Given the description of an element on the screen output the (x, y) to click on. 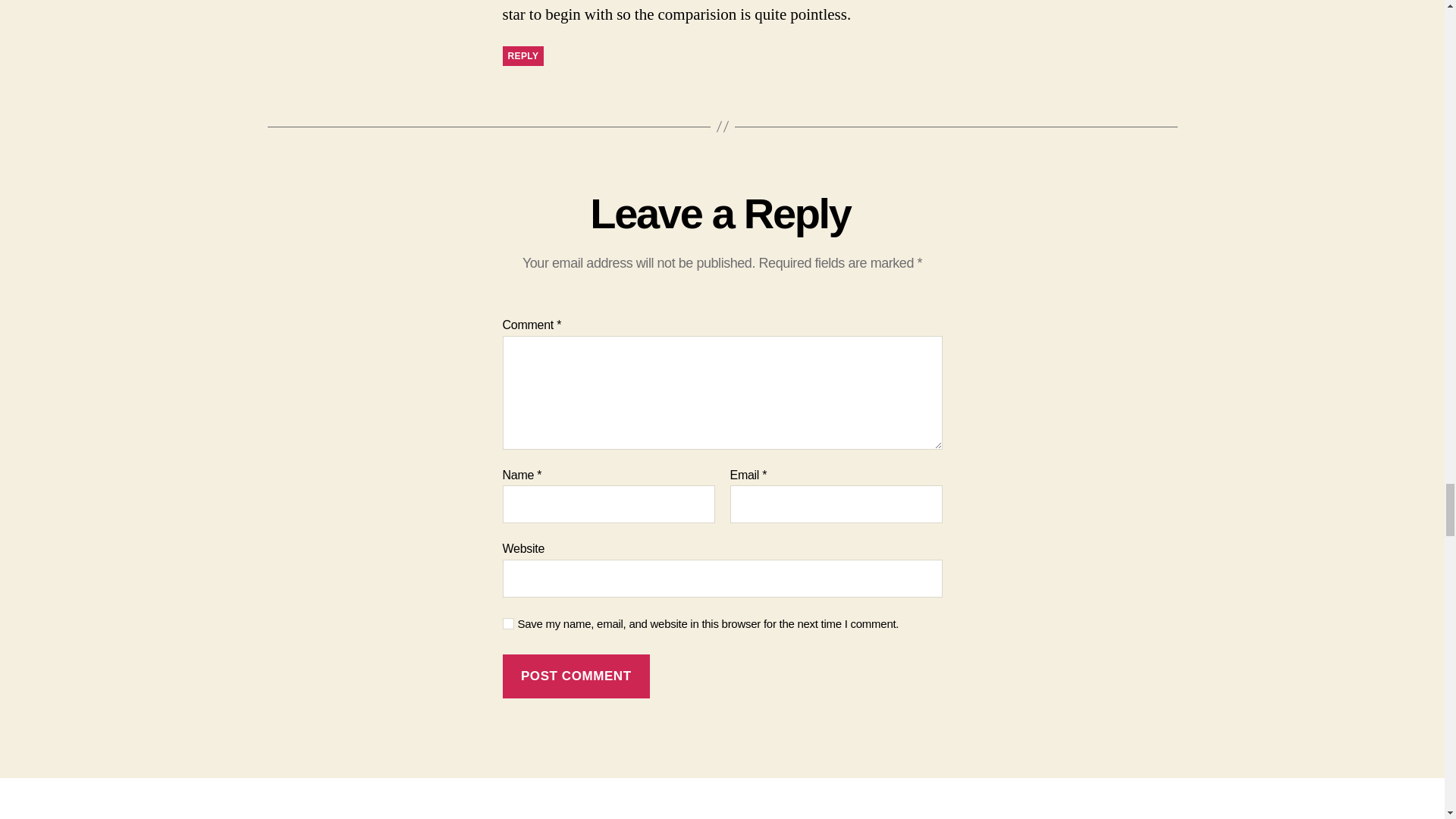
REPLY (522, 55)
yes (507, 623)
Post Comment (575, 676)
